Given the description of an element on the screen output the (x, y) to click on. 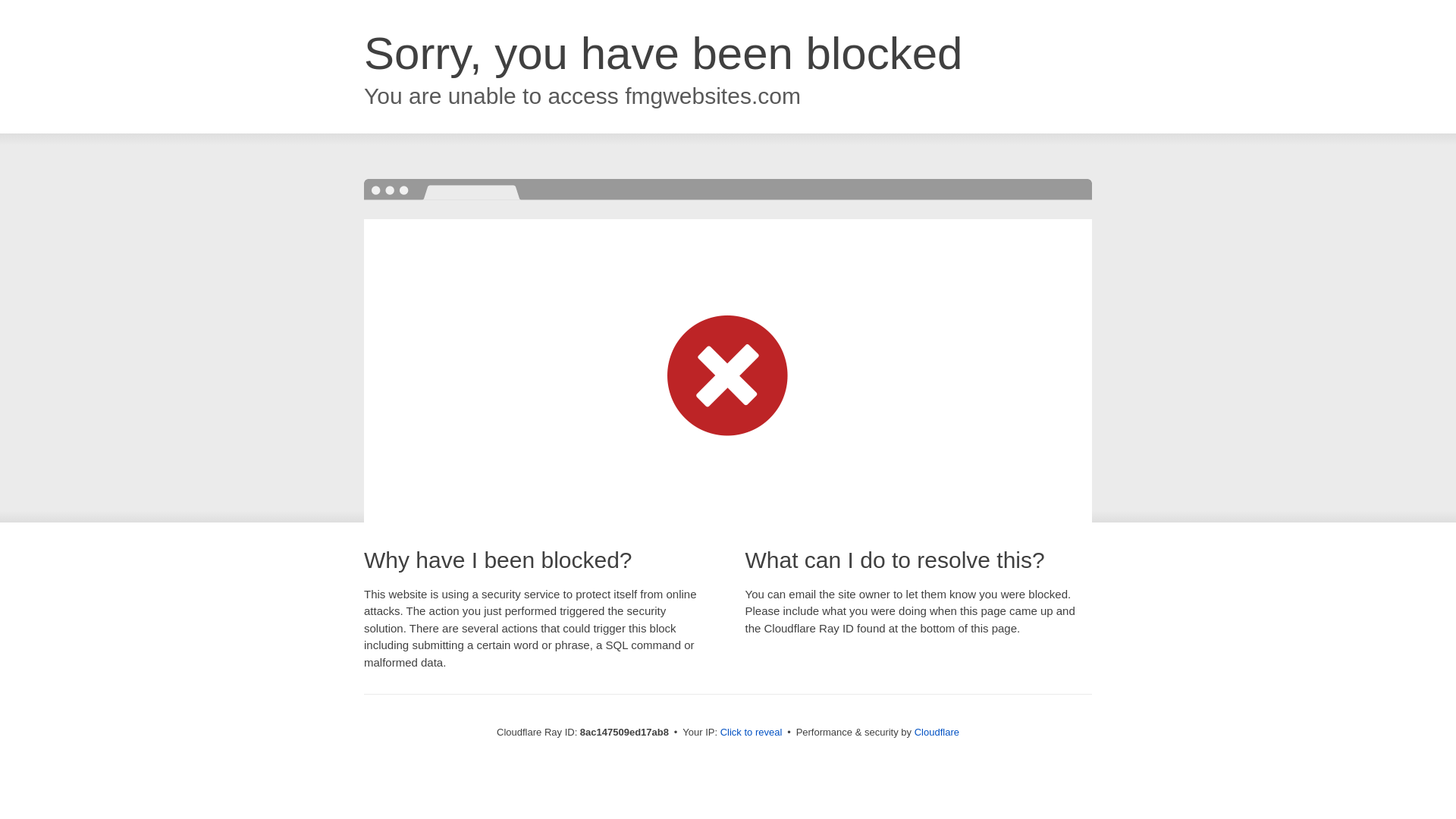
Click to reveal (751, 732)
Cloudflare (936, 731)
